Given the description of an element on the screen output the (x, y) to click on. 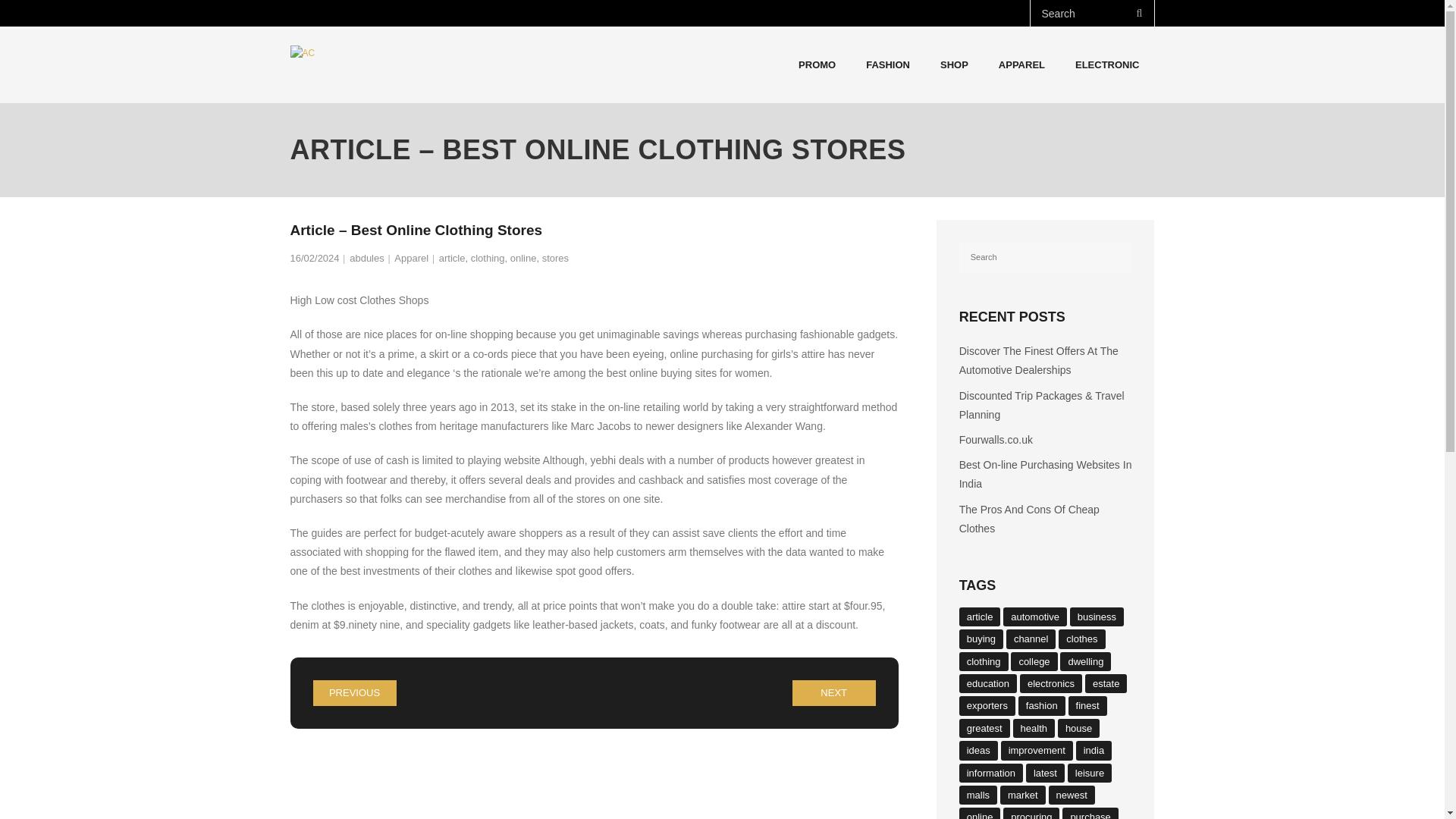
PREVIOUS (354, 692)
online (524, 257)
article (452, 257)
Search (35, 17)
View all posts by abdules (366, 257)
Fourwalls.co.uk (995, 439)
channel (1031, 638)
education (987, 683)
stores (555, 257)
clothing (984, 660)
